Given the description of an element on the screen output the (x, y) to click on. 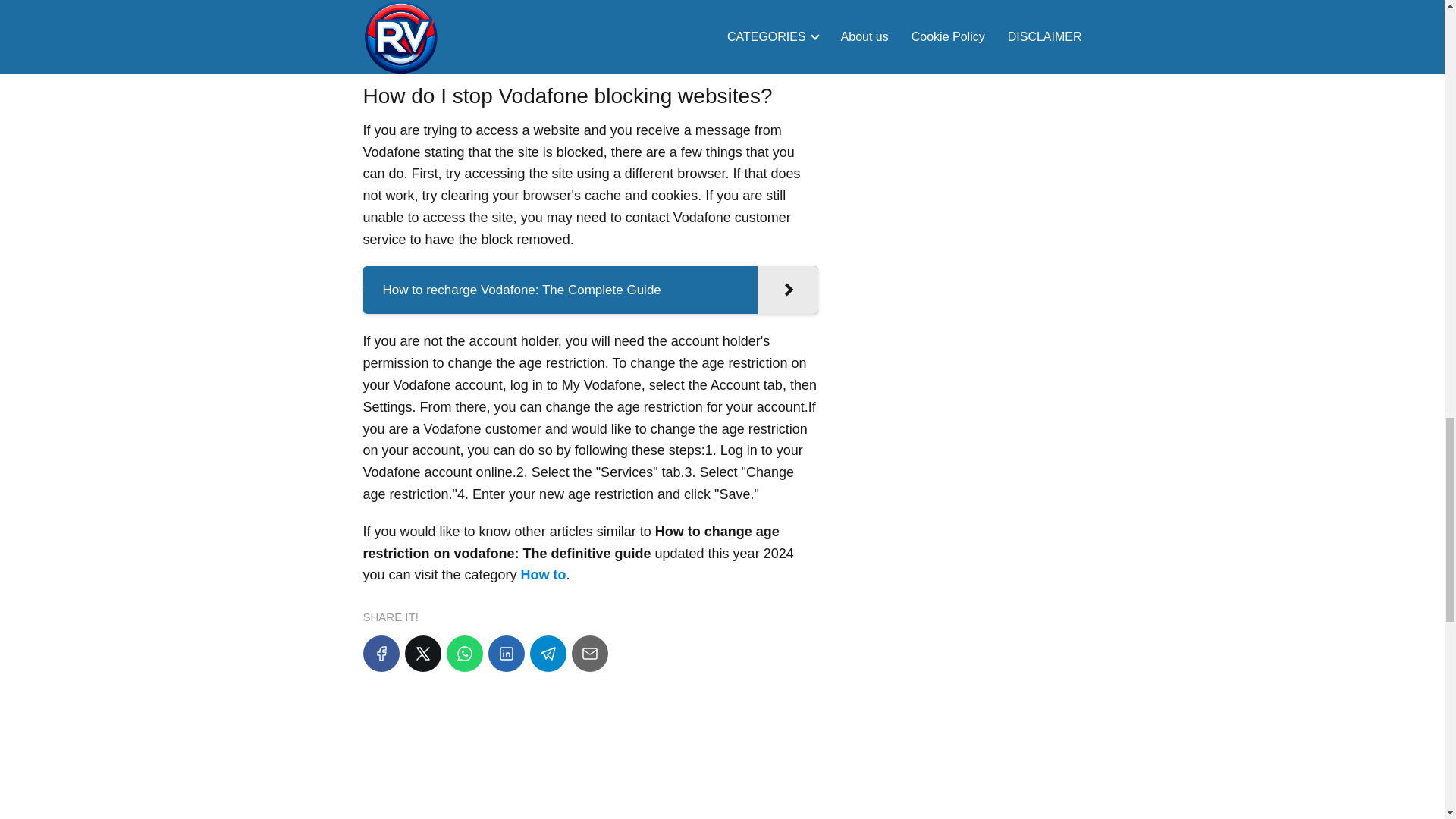
LinkedIn (505, 653)
Facebook (380, 653)
X (422, 653)
WhatsApp (463, 653)
Telegram (547, 653)
